Given the description of an element on the screen output the (x, y) to click on. 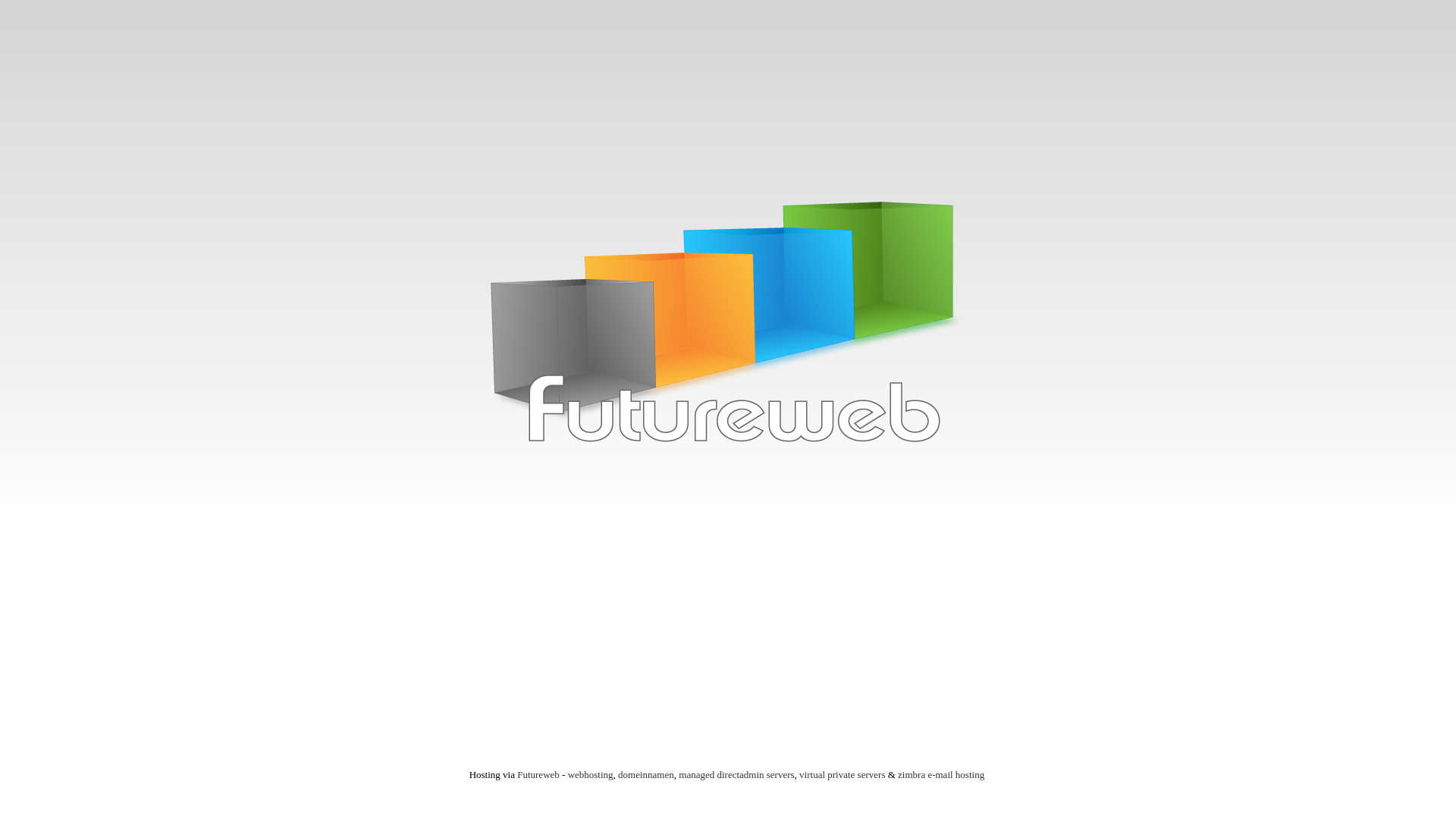
Futureweb Element type: text (538, 774)
domeinnamen Element type: text (646, 774)
managed directadmin servers Element type: text (735, 774)
virtual private servers Element type: text (841, 774)
zimbra e-mail hosting Element type: text (940, 774)
Futureweb Element type: hover (728, 327)
webhosting Element type: text (590, 774)
